Given the description of an element on the screen output the (x, y) to click on. 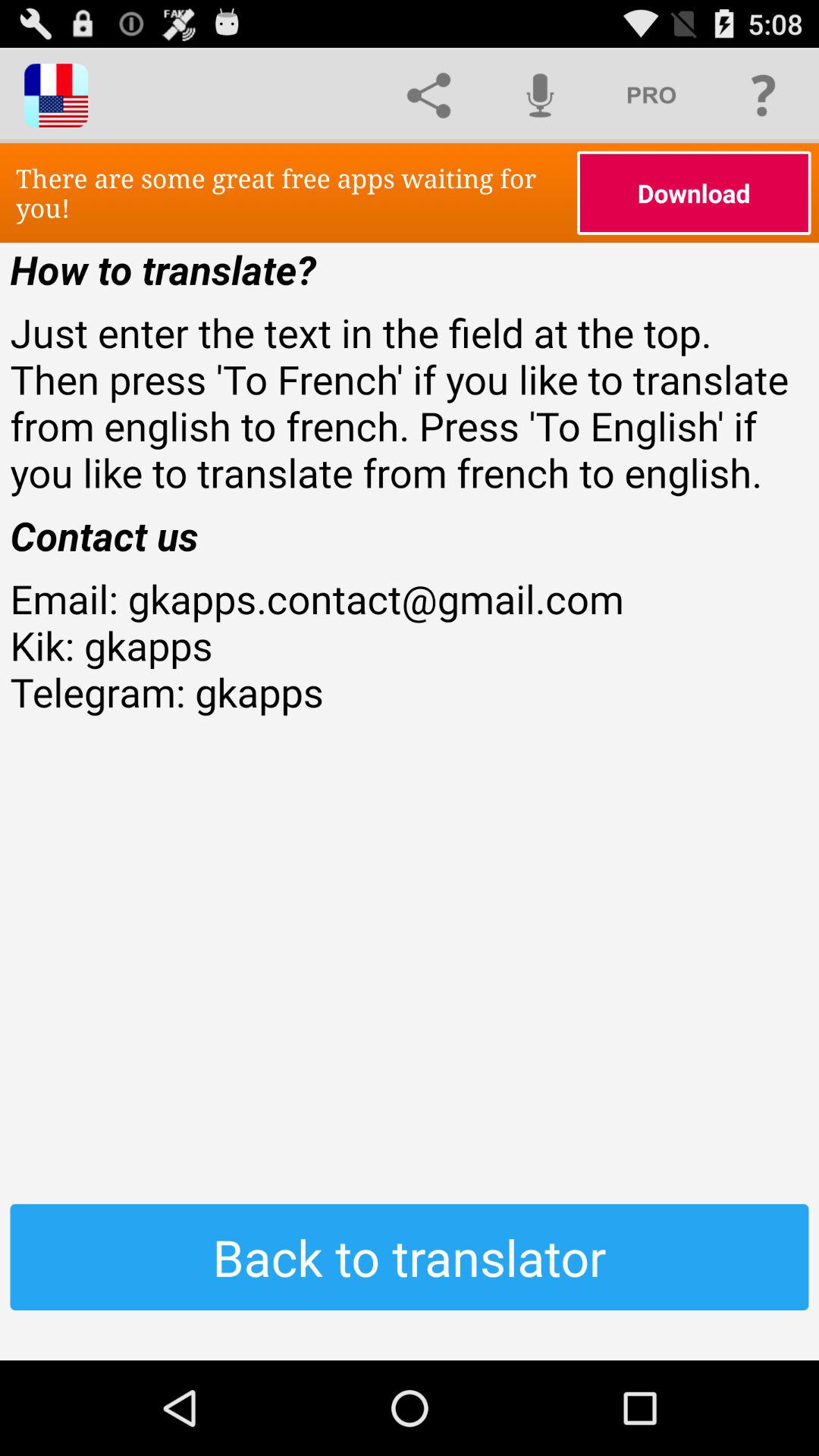
turn off the icon above download item (651, 95)
